Given the description of an element on the screen output the (x, y) to click on. 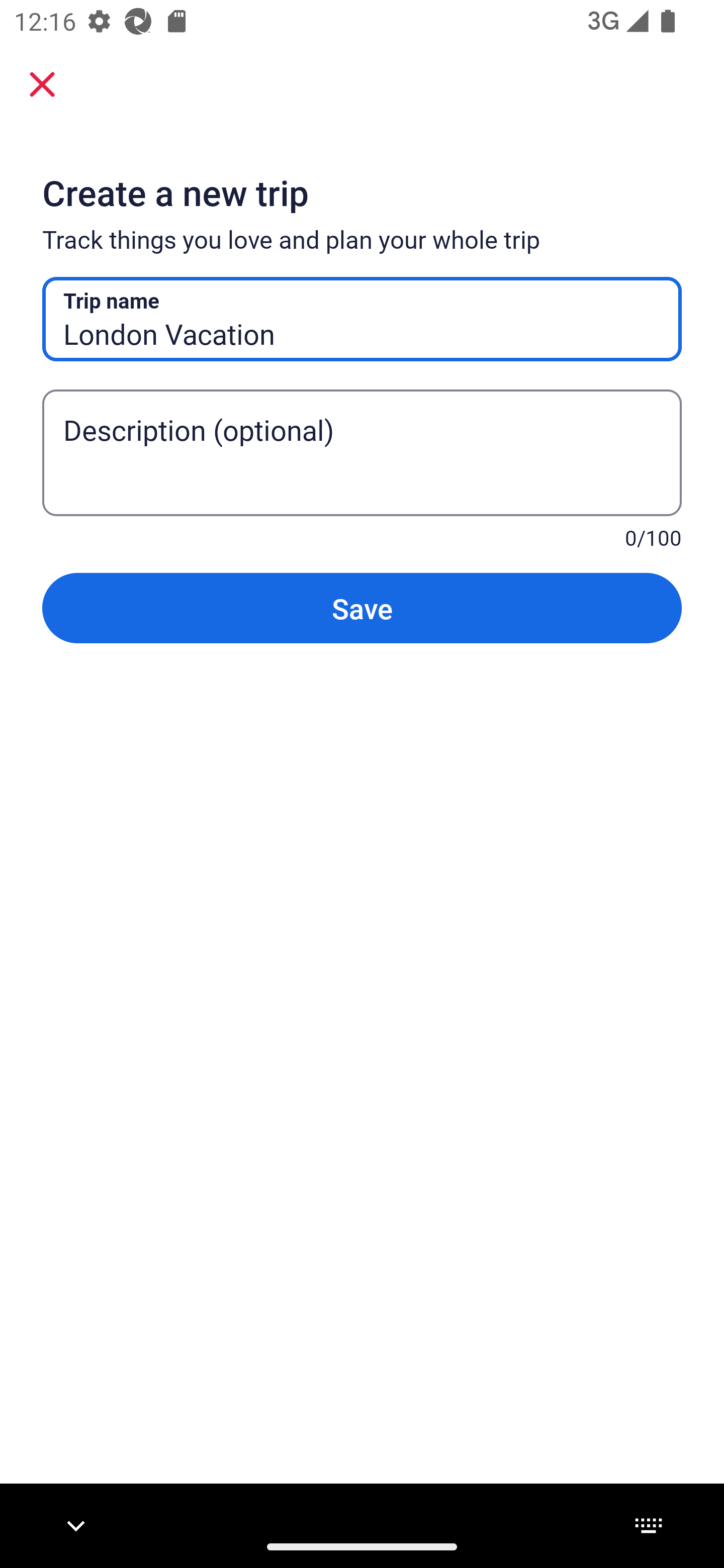
Close (42, 84)
London Vacation Trip name Trip name (361, 318)
Save Button Save (361, 607)
